Given the description of an element on the screen output the (x, y) to click on. 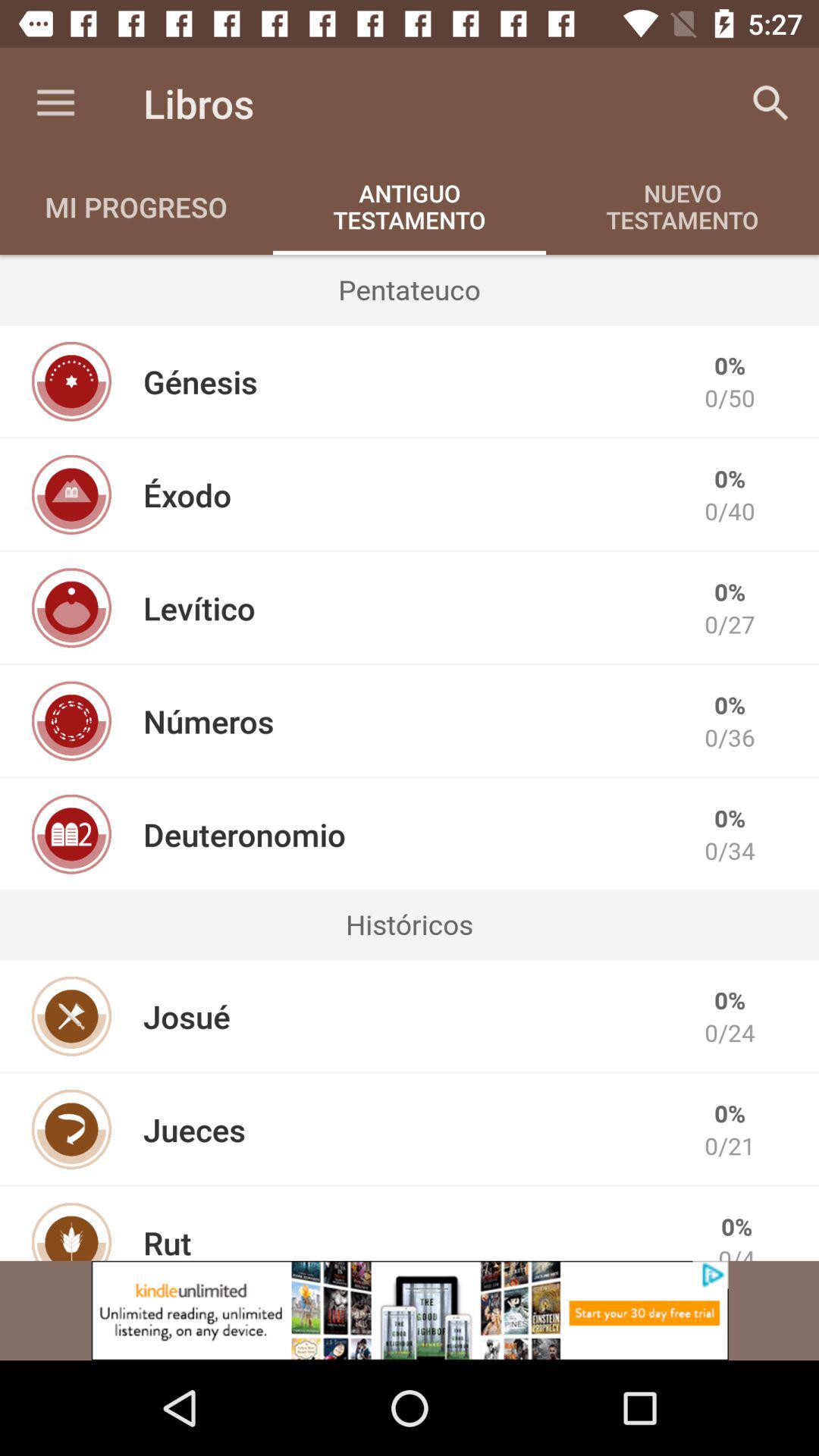
select the item to the left of the 0/21 item (194, 1129)
